Given the description of an element on the screen output the (x, y) to click on. 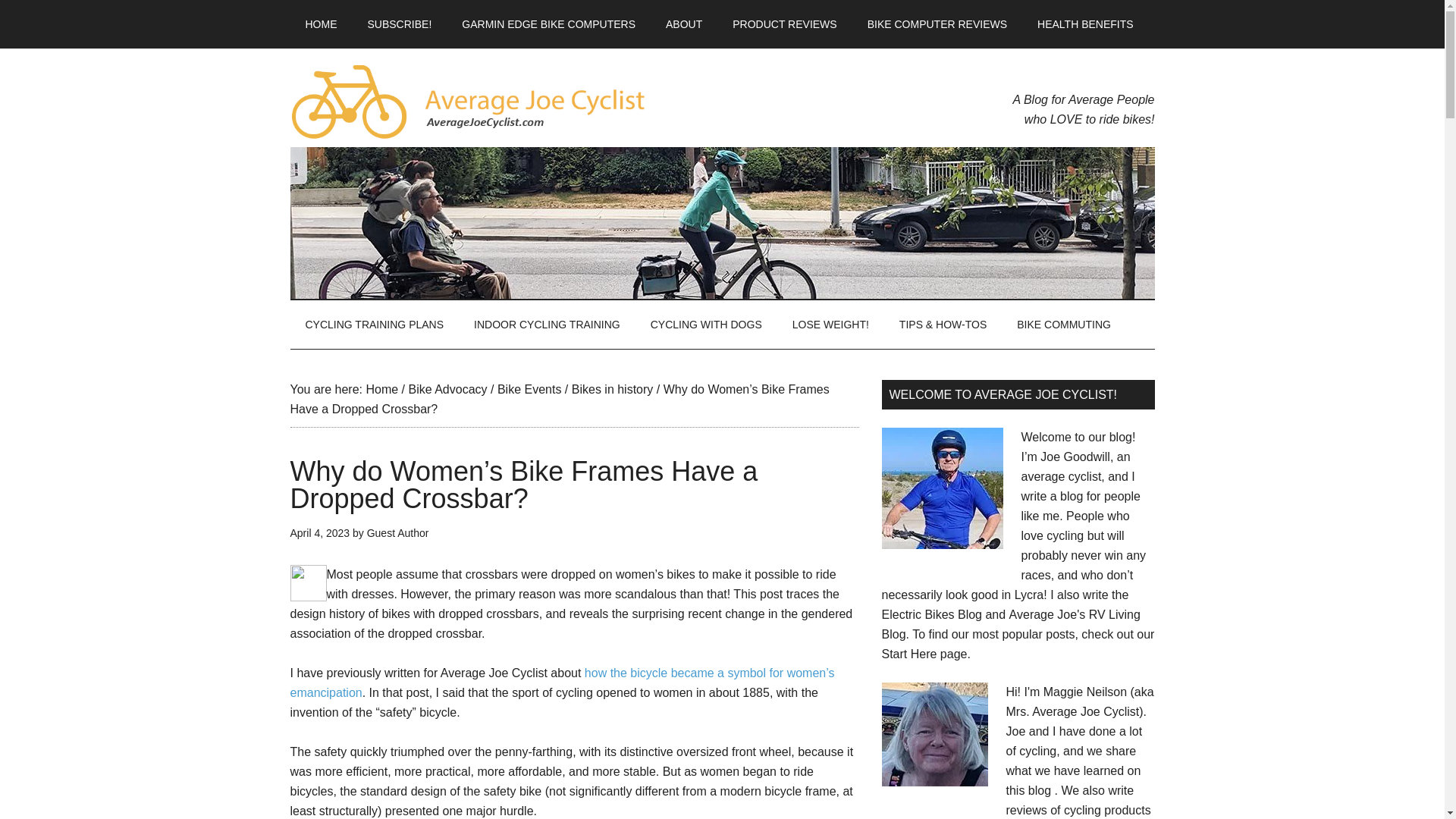
SUBSCRIBE! (399, 24)
GARMIN EDGE BIKE COMPUTERS (548, 24)
ABOUT (683, 24)
PRODUCT REVIEWS (784, 24)
HOME (320, 24)
